Given the description of an element on the screen output the (x, y) to click on. 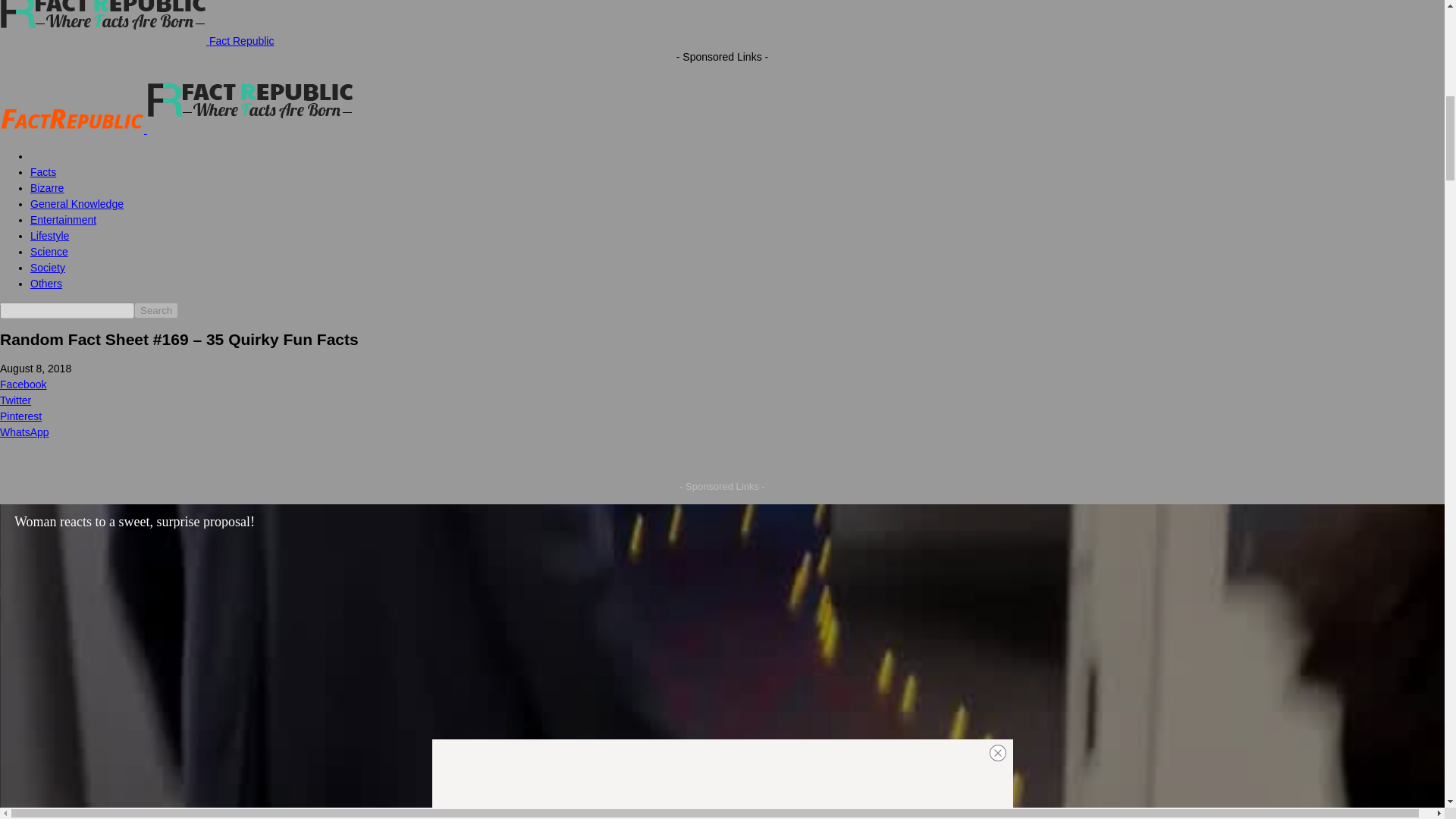
Where Facts Are Born (72, 119)
Facebook (722, 384)
Search (155, 310)
Where Facts Are Born (250, 99)
Where Facts Are Born (103, 22)
